Given the description of an element on the screen output the (x, y) to click on. 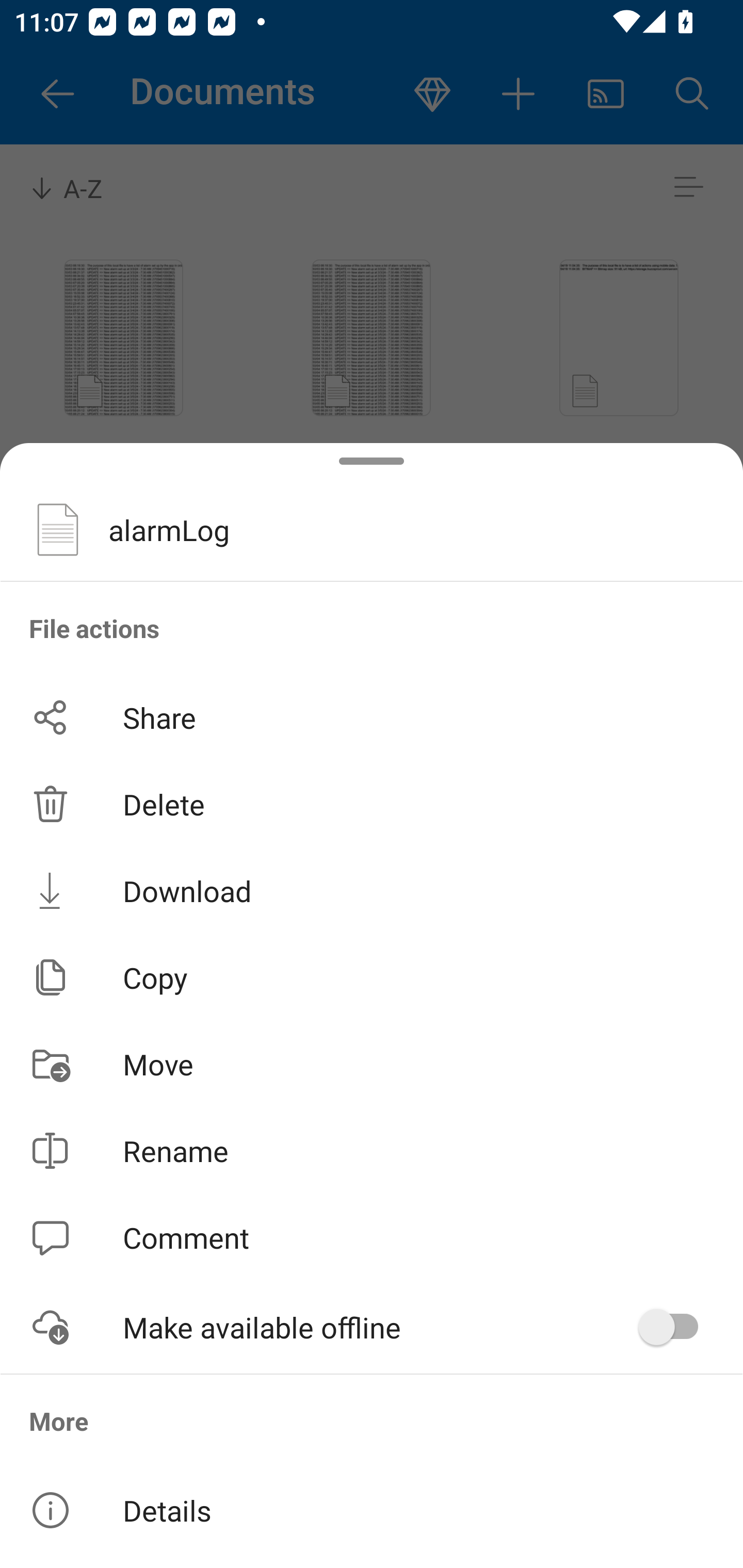
Share button Share (371, 717)
Delete button Delete (371, 803)
Download button Download (371, 890)
Copy button Copy (371, 977)
Move button Move (371, 1063)
Rename button Rename (371, 1150)
Comment button Comment (371, 1237)
Make offline operation (674, 1327)
Details button Details (371, 1510)
